Given the description of an element on the screen output the (x, y) to click on. 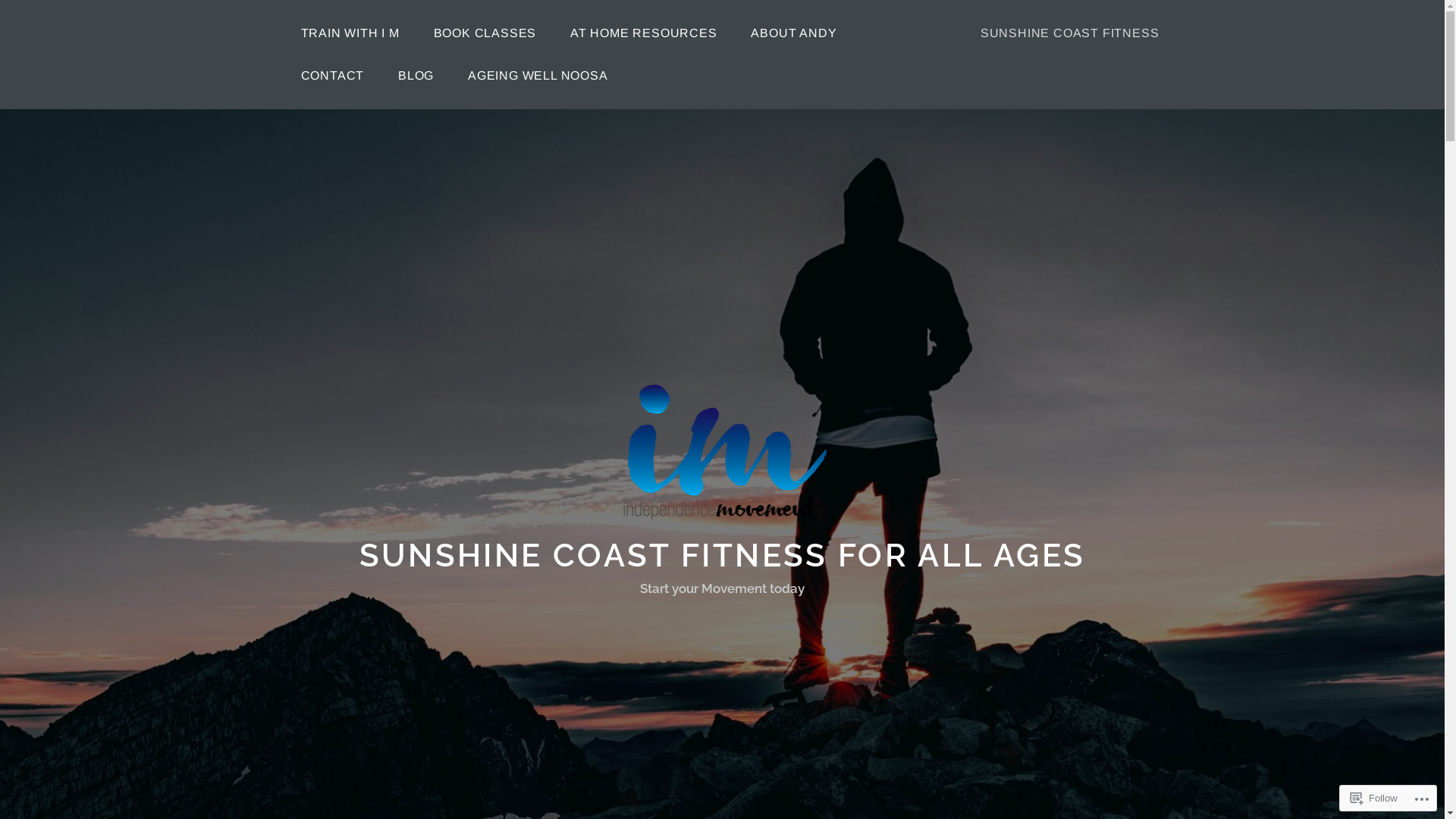
Follow Element type: text (1373, 797)
SUNSHINE COAST FITNESS FOR ALL AGES Element type: text (722, 555)
AGEING WELL NOOSA Element type: text (537, 75)
BLOG Element type: text (415, 75)
AT HOME RESOURCES Element type: text (643, 33)
ABOUT ANDY Element type: text (793, 33)
TRAIN WITH I M Element type: text (349, 33)
BOOK CLASSES Element type: text (485, 33)
CONTACT Element type: text (332, 75)
